Given the description of an element on the screen output the (x, y) to click on. 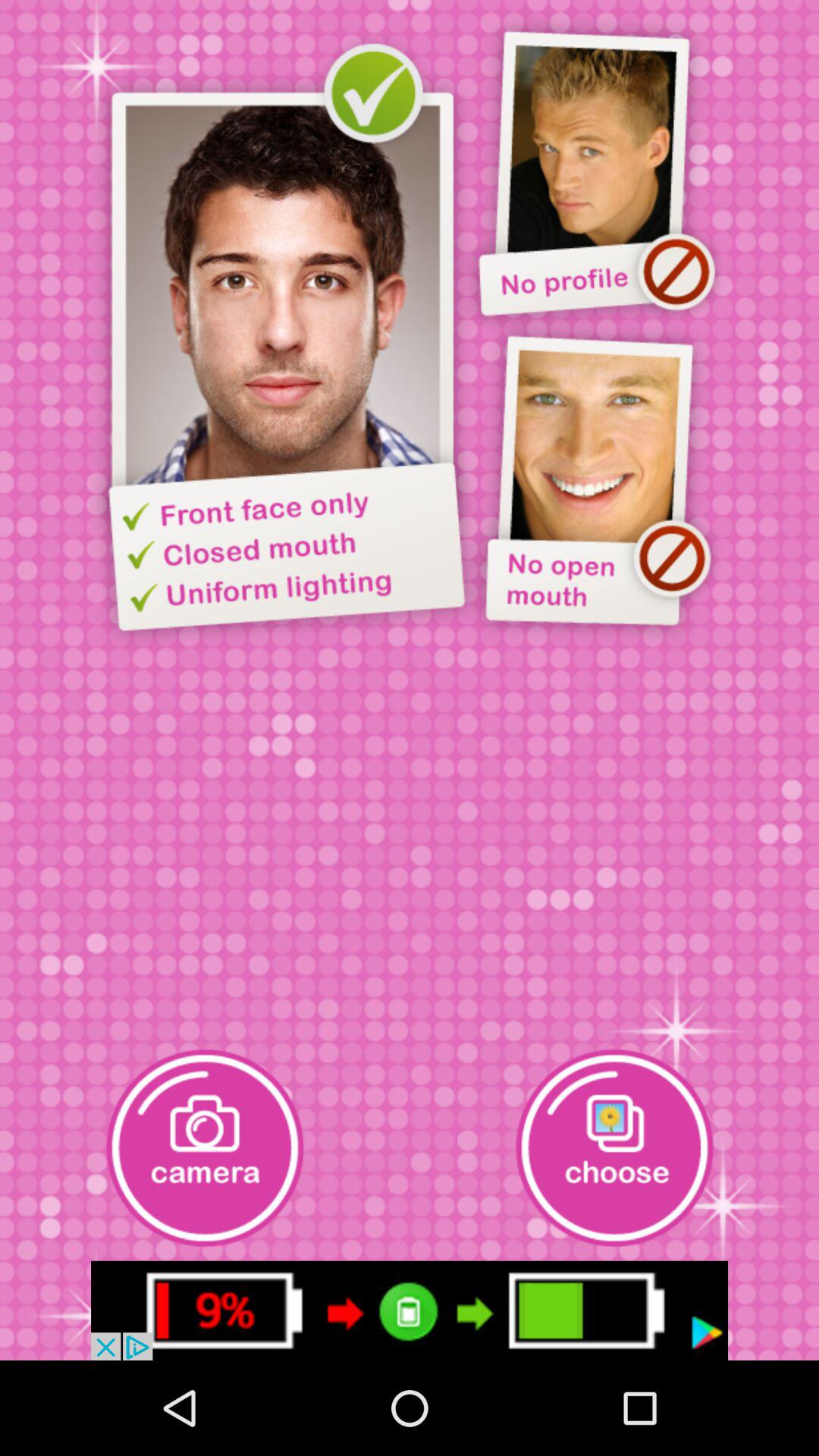
chergae (409, 1310)
